Given the description of an element on the screen output the (x, y) to click on. 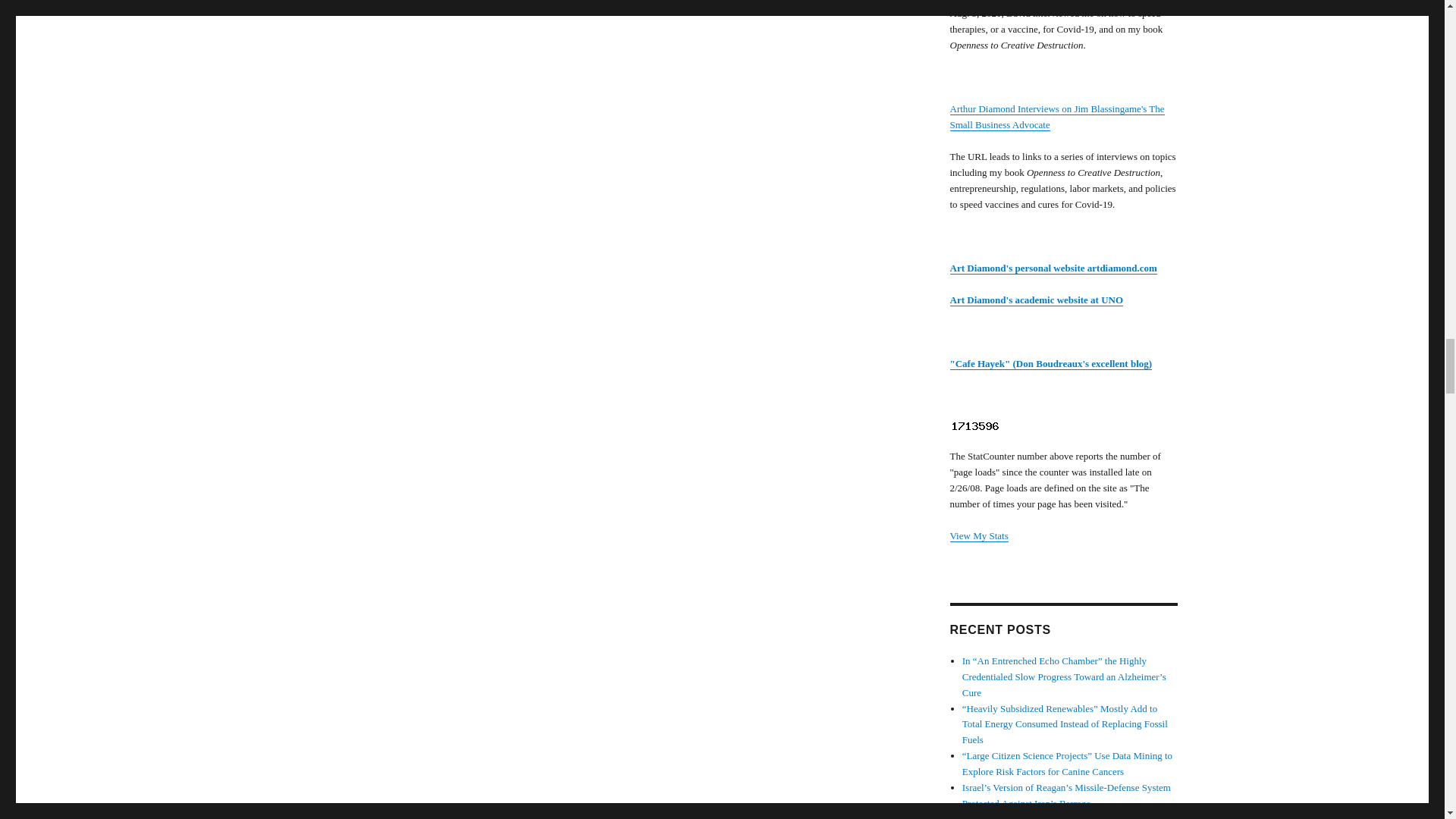
Art Diamond's academic website at UNO (1035, 299)
Art Diamond's personal website artdiamond.com (1052, 267)
View My Stats (978, 535)
